Given the description of an element on the screen output the (x, y) to click on. 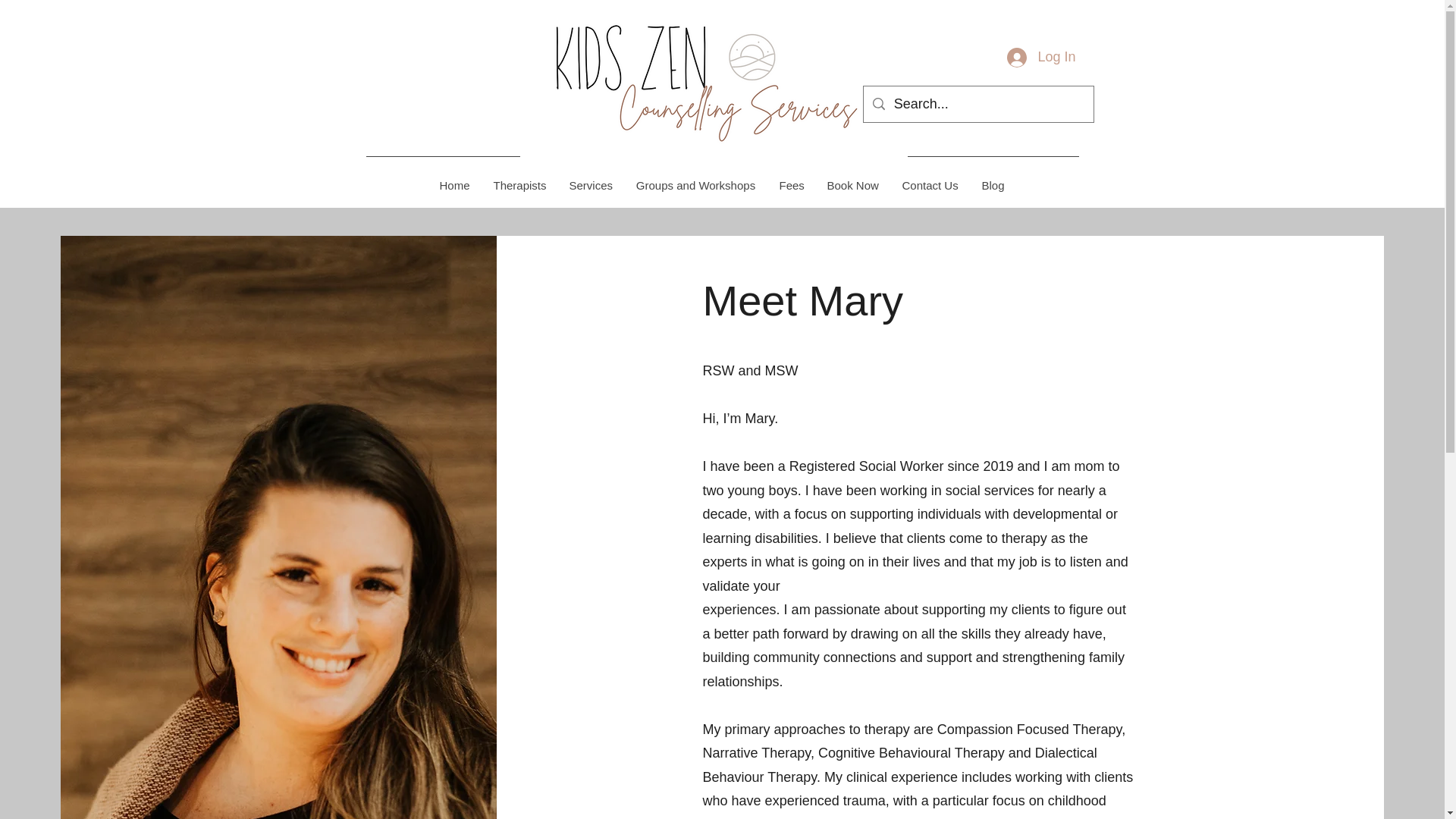
Services (589, 185)
Home (454, 185)
Therapists (518, 185)
Book Now (851, 185)
Fees (791, 185)
Contact Us (929, 185)
Blog (991, 185)
Log In (1040, 57)
Groups and Workshops (695, 185)
